Given the description of an element on the screen output the (x, y) to click on. 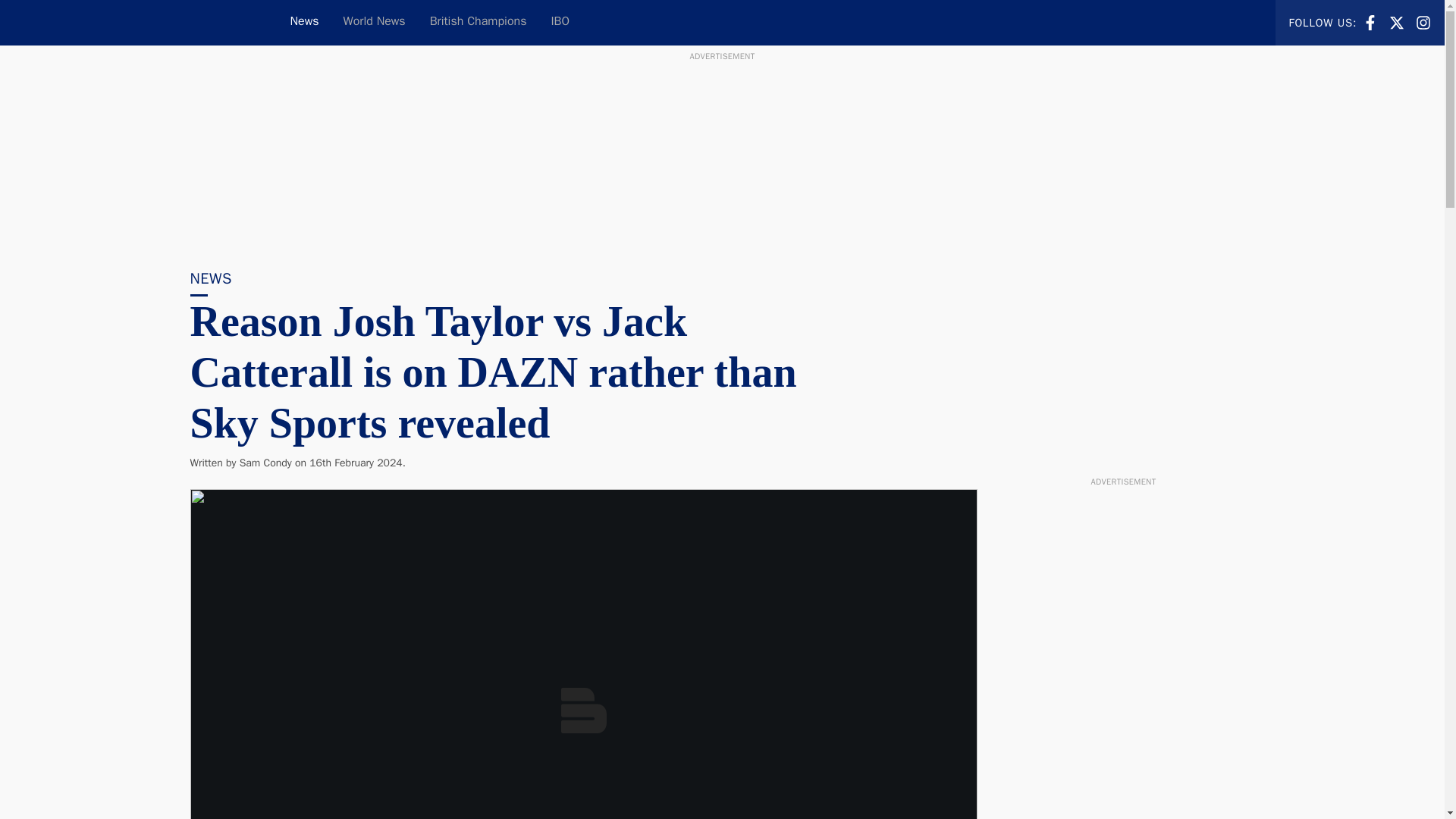
X (1397, 22)
Sam Condy (1423, 21)
World News (266, 462)
British Champions (374, 22)
INSTAGRAM (477, 22)
FACEBOOK (1397, 21)
News (1423, 22)
